Given the description of an element on the screen output the (x, y) to click on. 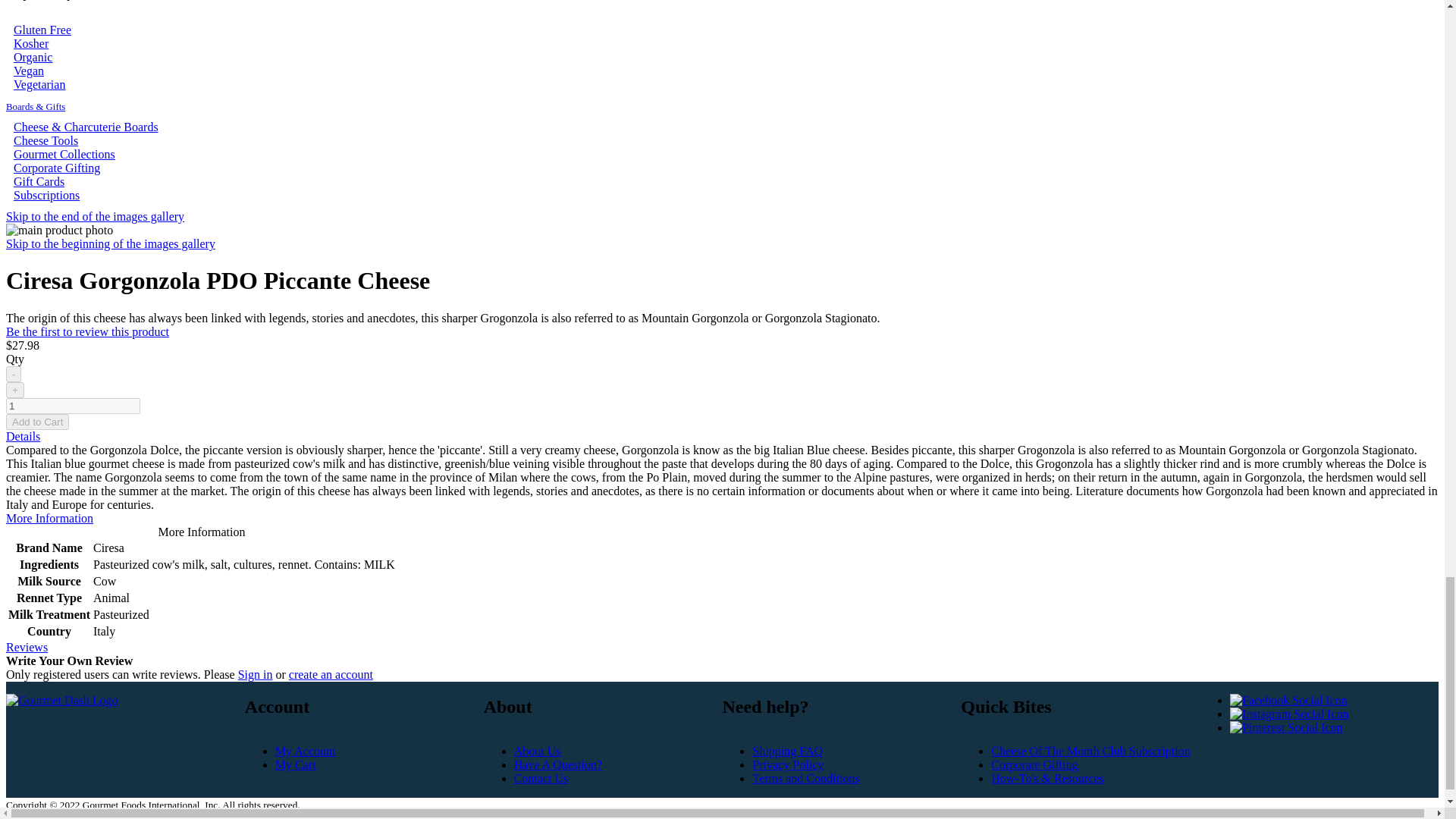
Qty (72, 406)
Resources (1047, 778)
1 (72, 406)
Add to Cart (36, 421)
